Given the description of an element on the screen output the (x, y) to click on. 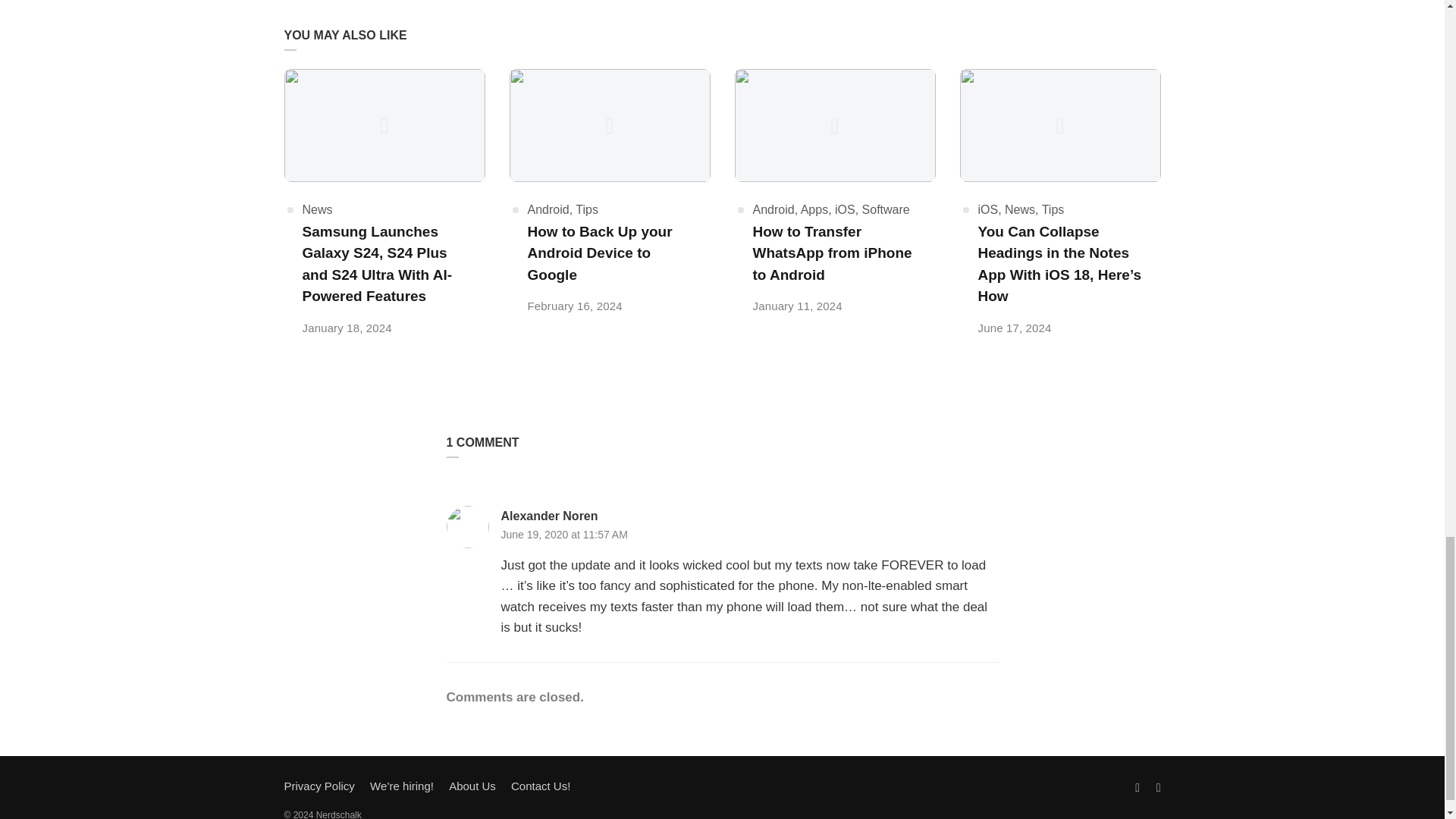
Android (548, 209)
News (316, 209)
Tips (586, 209)
